Given the description of an element on the screen output the (x, y) to click on. 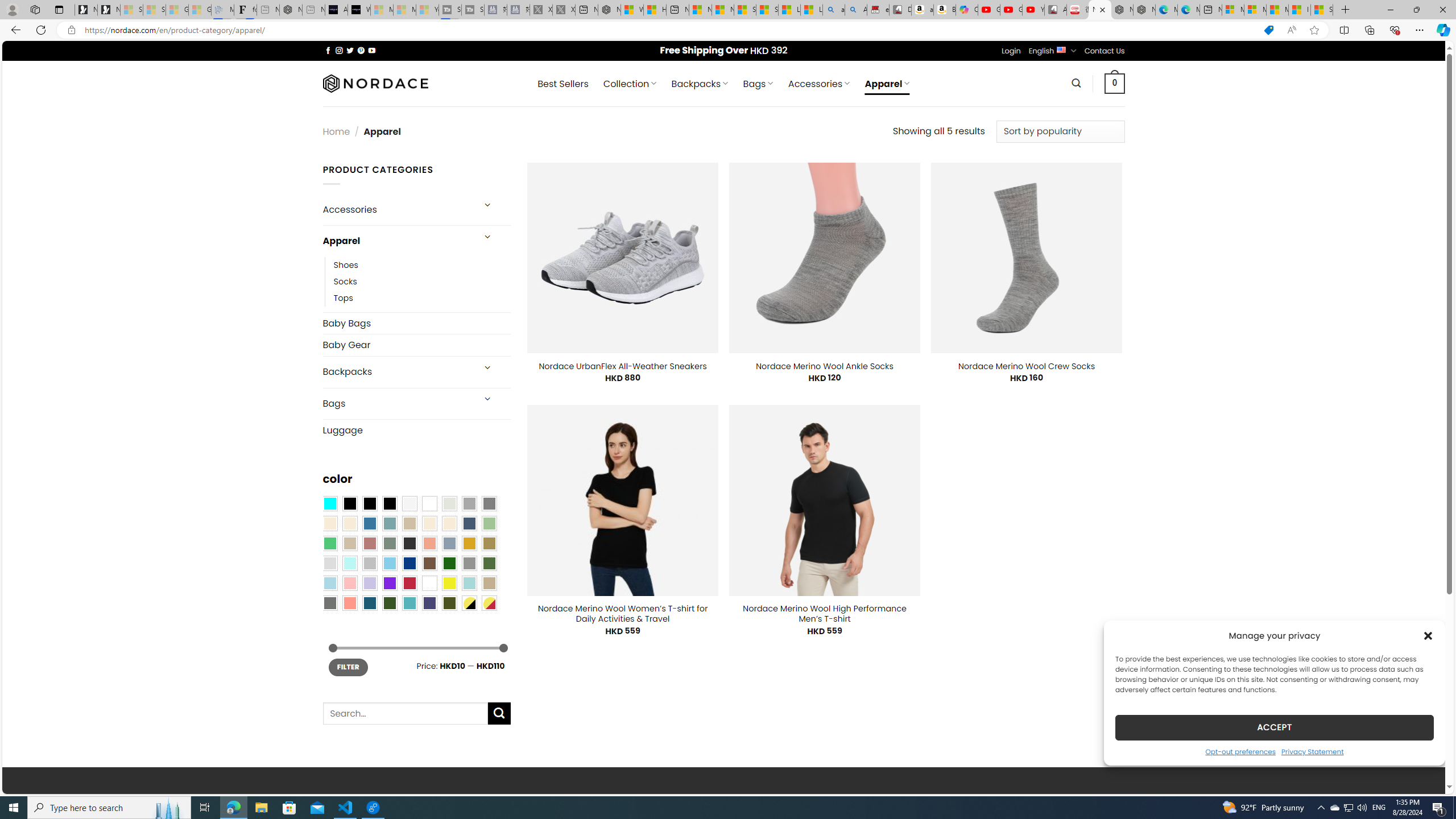
ACCEPT (1274, 727)
Coral (429, 542)
Blue (369, 522)
Cream (449, 522)
  Best Sellers (562, 83)
Class: cmplz-close (1428, 635)
Charcoal (408, 542)
